Given the description of an element on the screen output the (x, y) to click on. 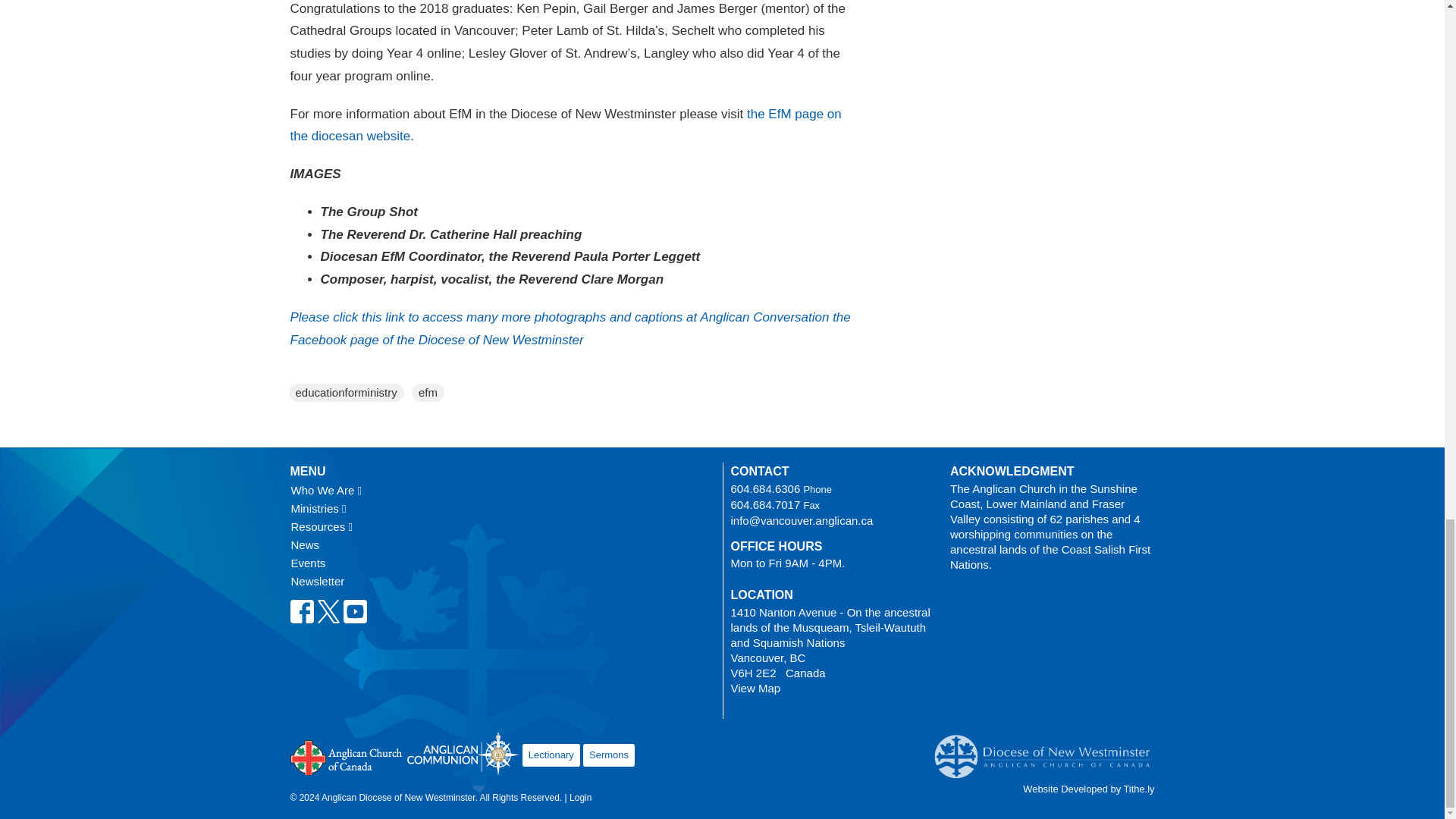
Youtube Icon (354, 611)
educationforministry (346, 392)
Twitter Icon (328, 611)
Facebook Icon (301, 611)
efm (428, 392)
the EfM page on the diocesan website (565, 124)
